Given the description of an element on the screen output the (x, y) to click on. 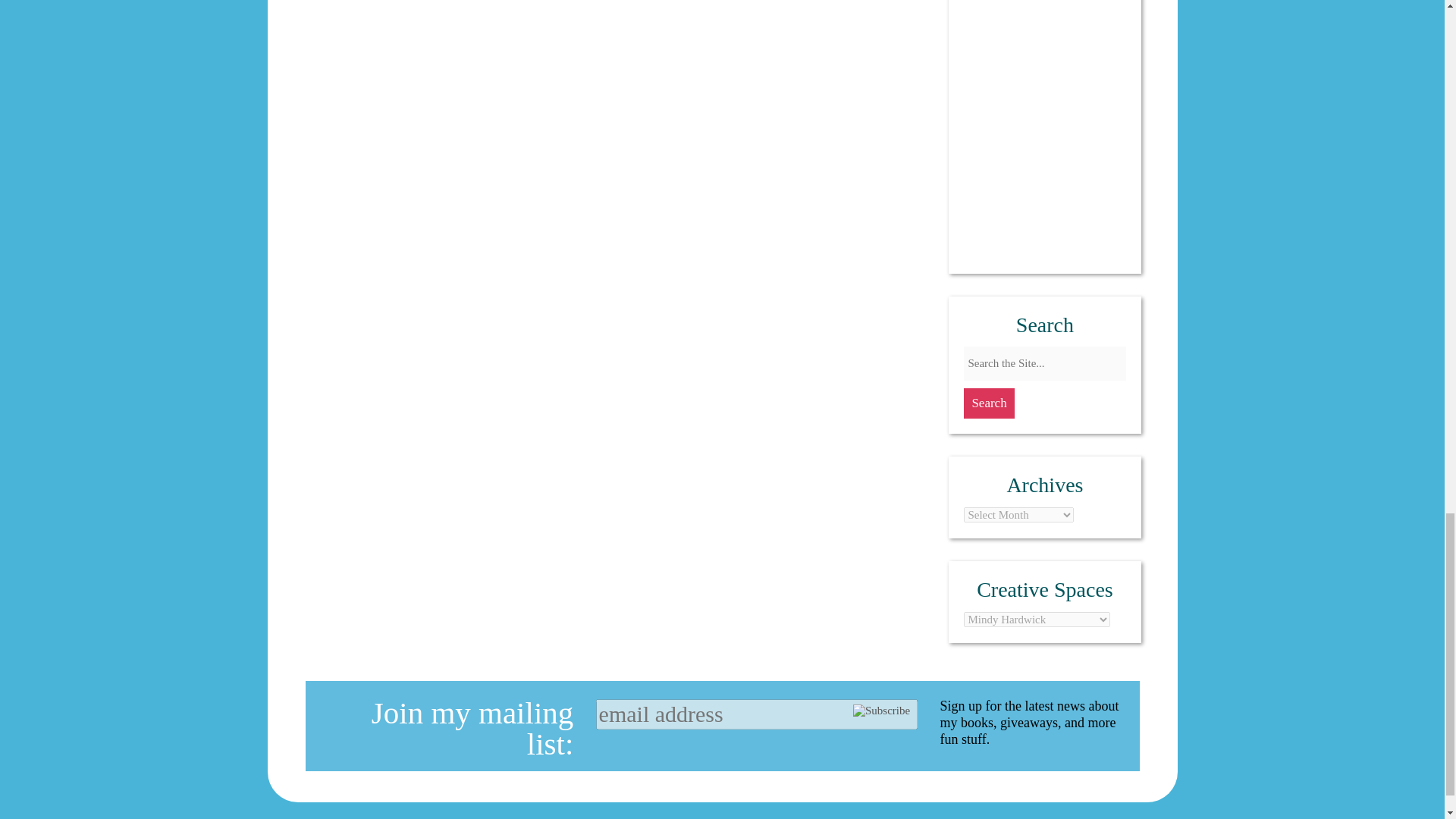
Search (988, 402)
Subscribe (881, 710)
Search (988, 402)
